Given the description of an element on the screen output the (x, y) to click on. 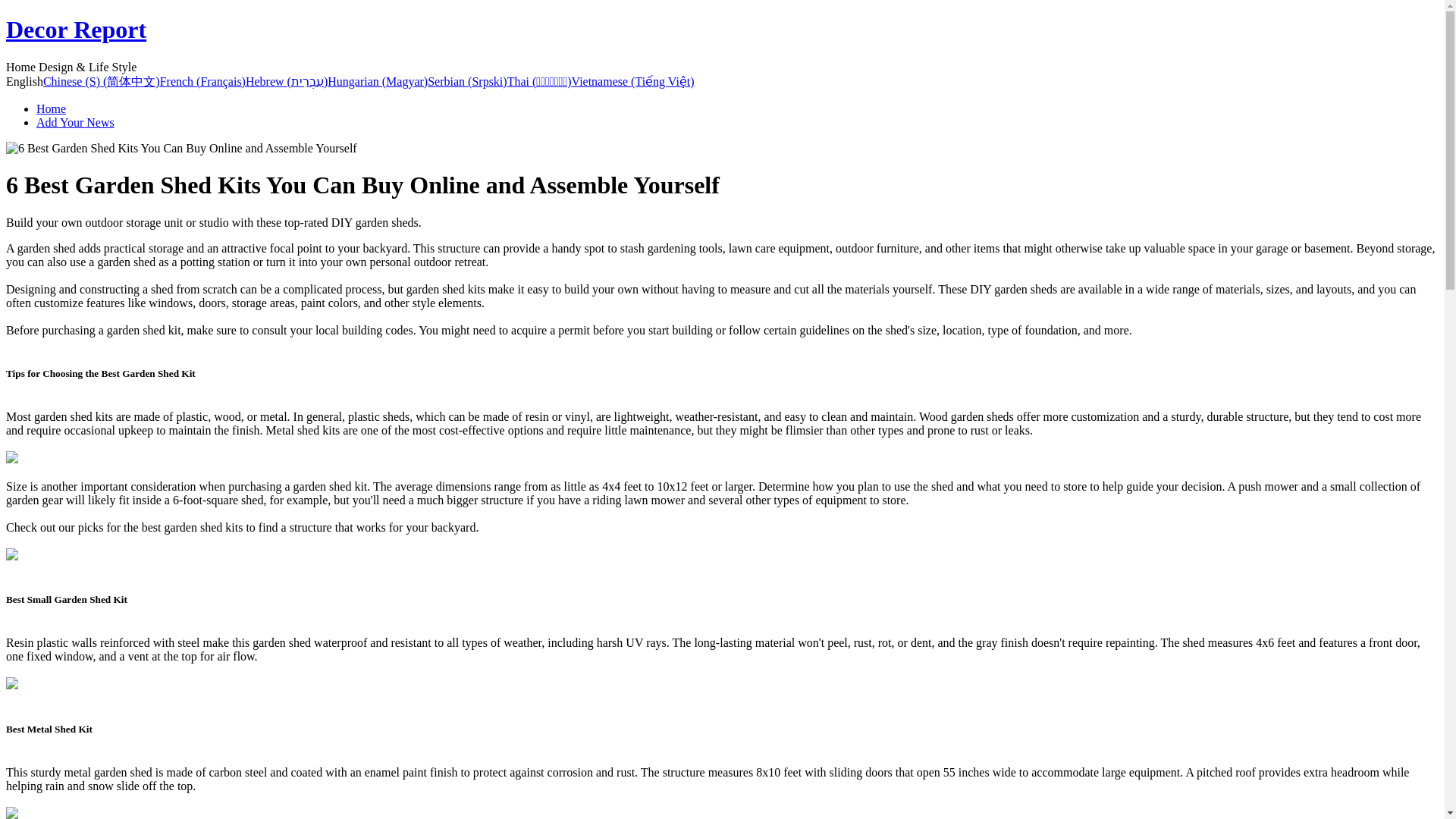
Add Your News (75, 122)
Decor Report (76, 29)
Home (50, 108)
